Given the description of an element on the screen output the (x, y) to click on. 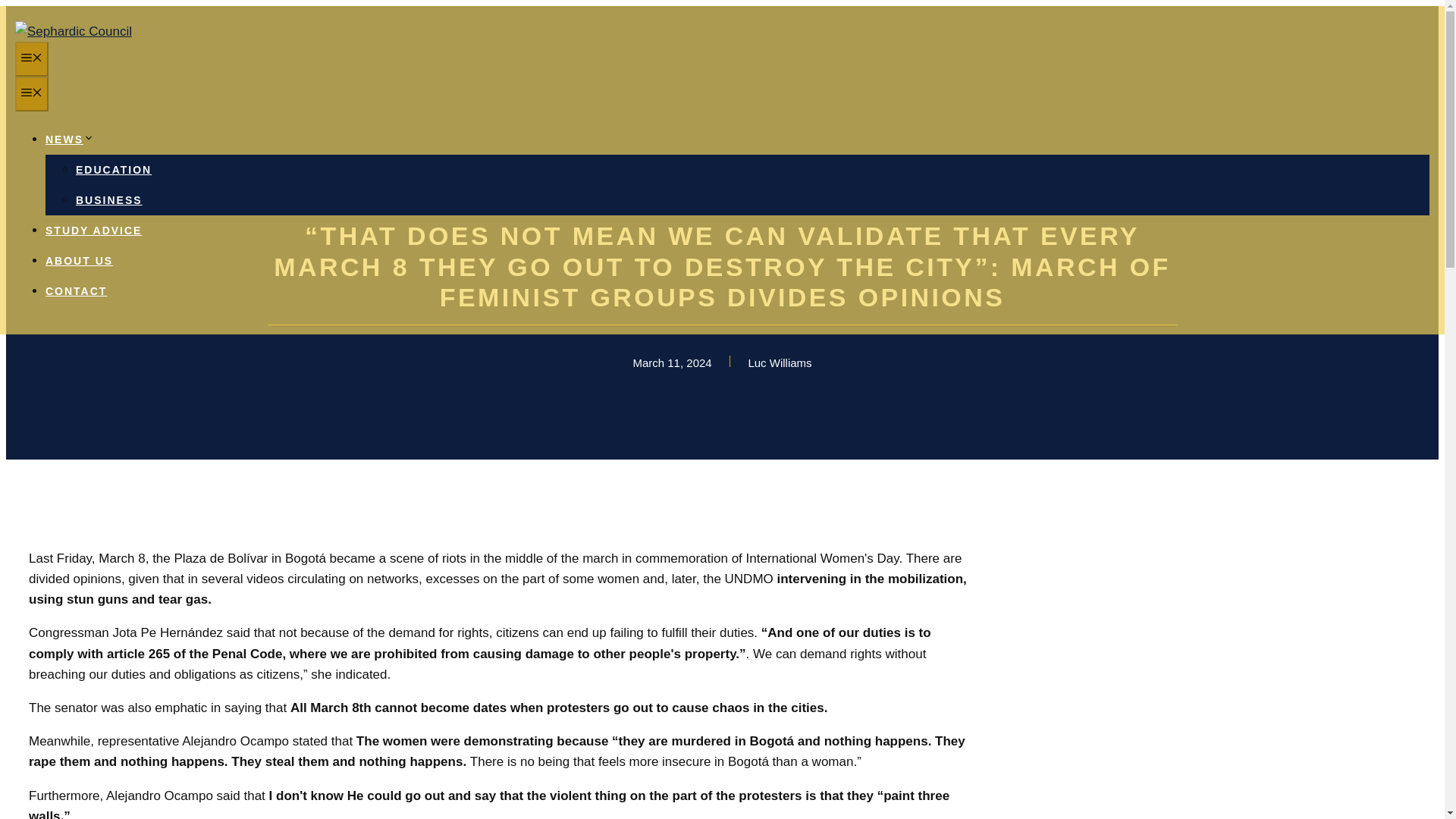
EDUCATION (113, 169)
MENU (31, 93)
MENU (31, 58)
NEWS (69, 139)
BUSINESS (108, 200)
STUDY ADVICE (93, 230)
CONTACT (75, 291)
ABOUT US (79, 260)
